Given the description of an element on the screen output the (x, y) to click on. 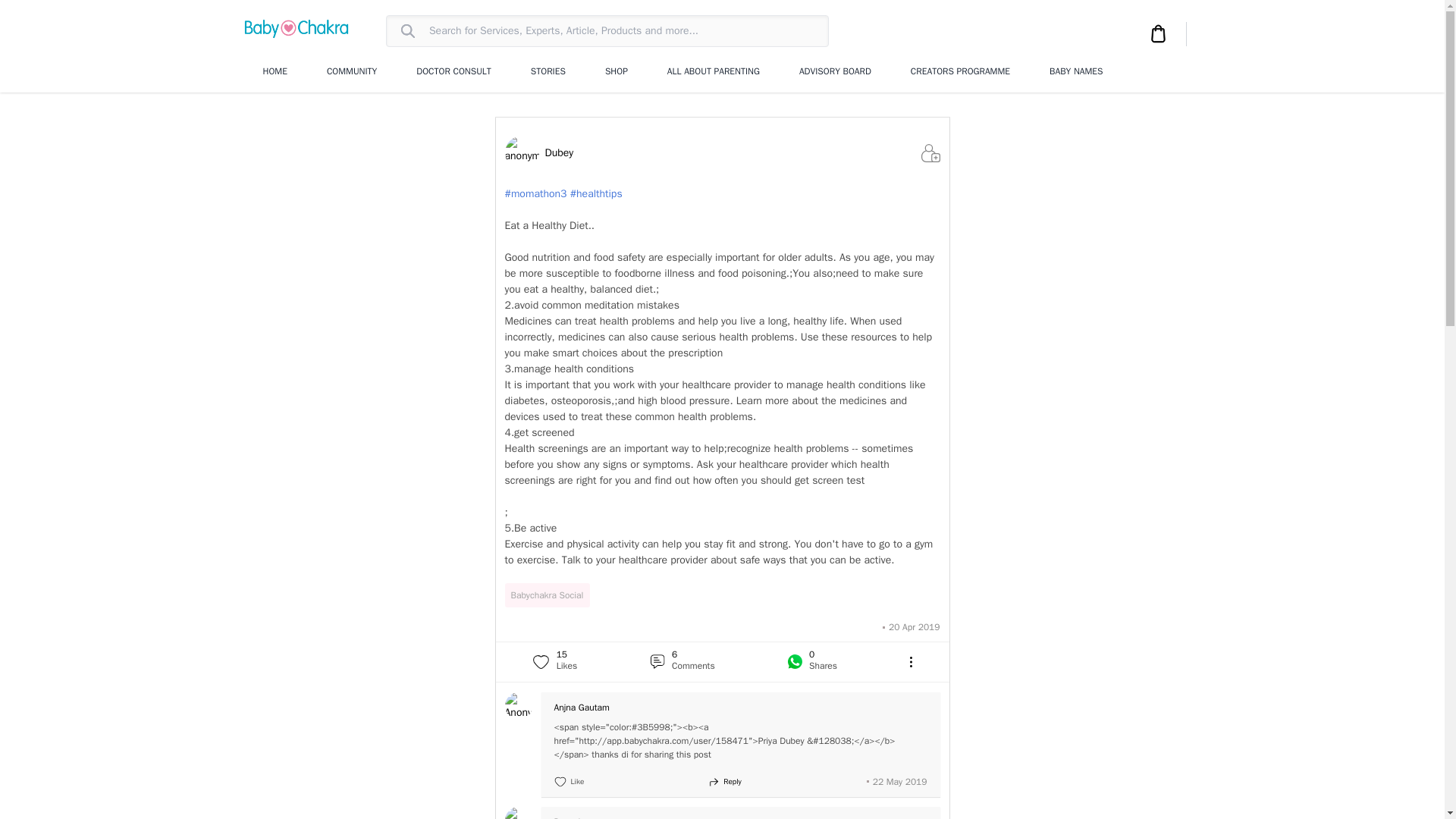
STORIES (548, 71)
CREATORS PROGRAMME (959, 71)
COMMUNITY (351, 71)
ALL ABOUT PARENTING (713, 71)
ADVISORY BOARD (834, 71)
DOCTOR CONSULT (453, 71)
